Given the description of an element on the screen output the (x, y) to click on. 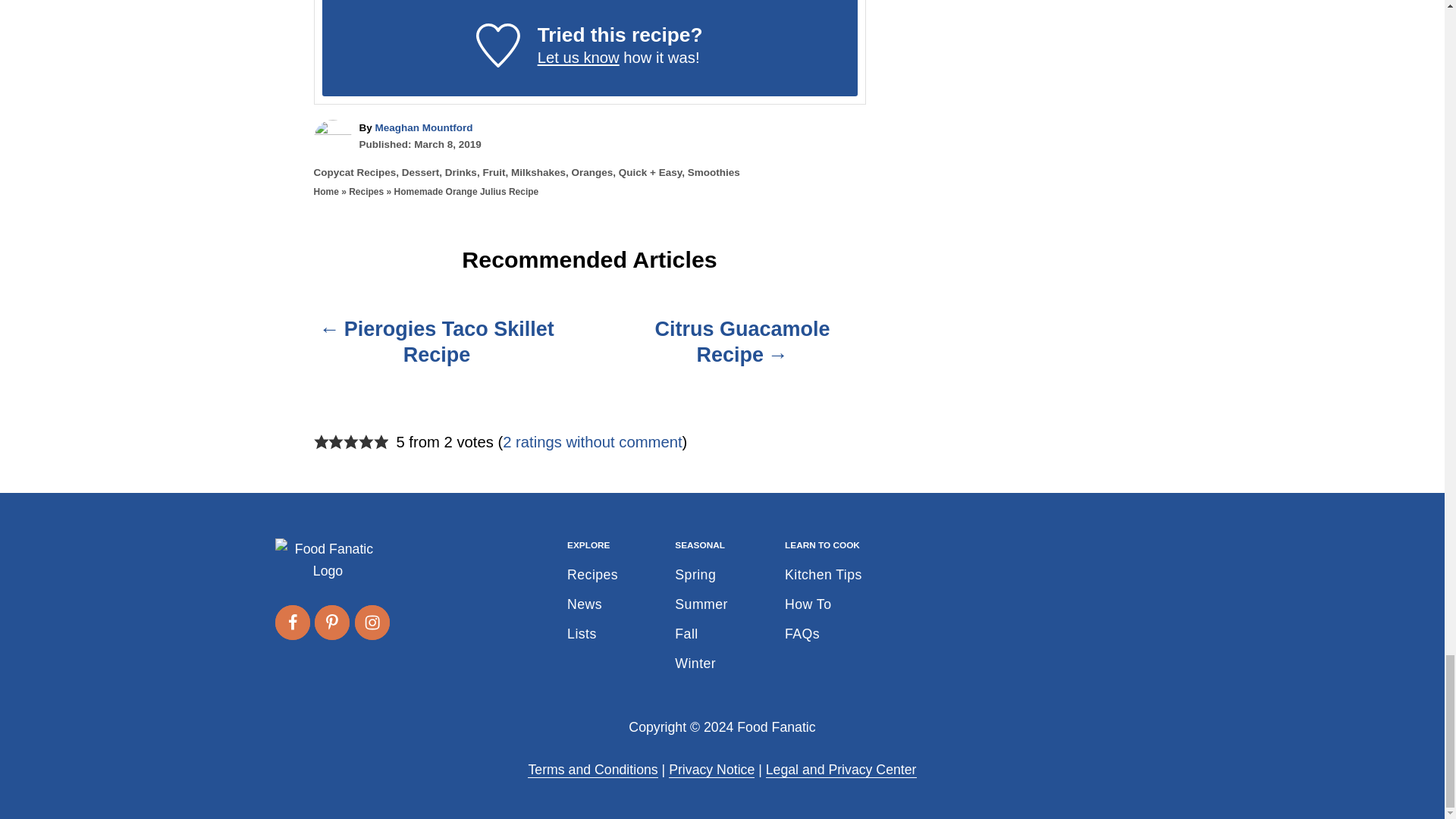
Follow on Pinterest (331, 622)
Follow on Instagram (372, 622)
Follow on Facebook (291, 622)
